Given the description of an element on the screen output the (x, y) to click on. 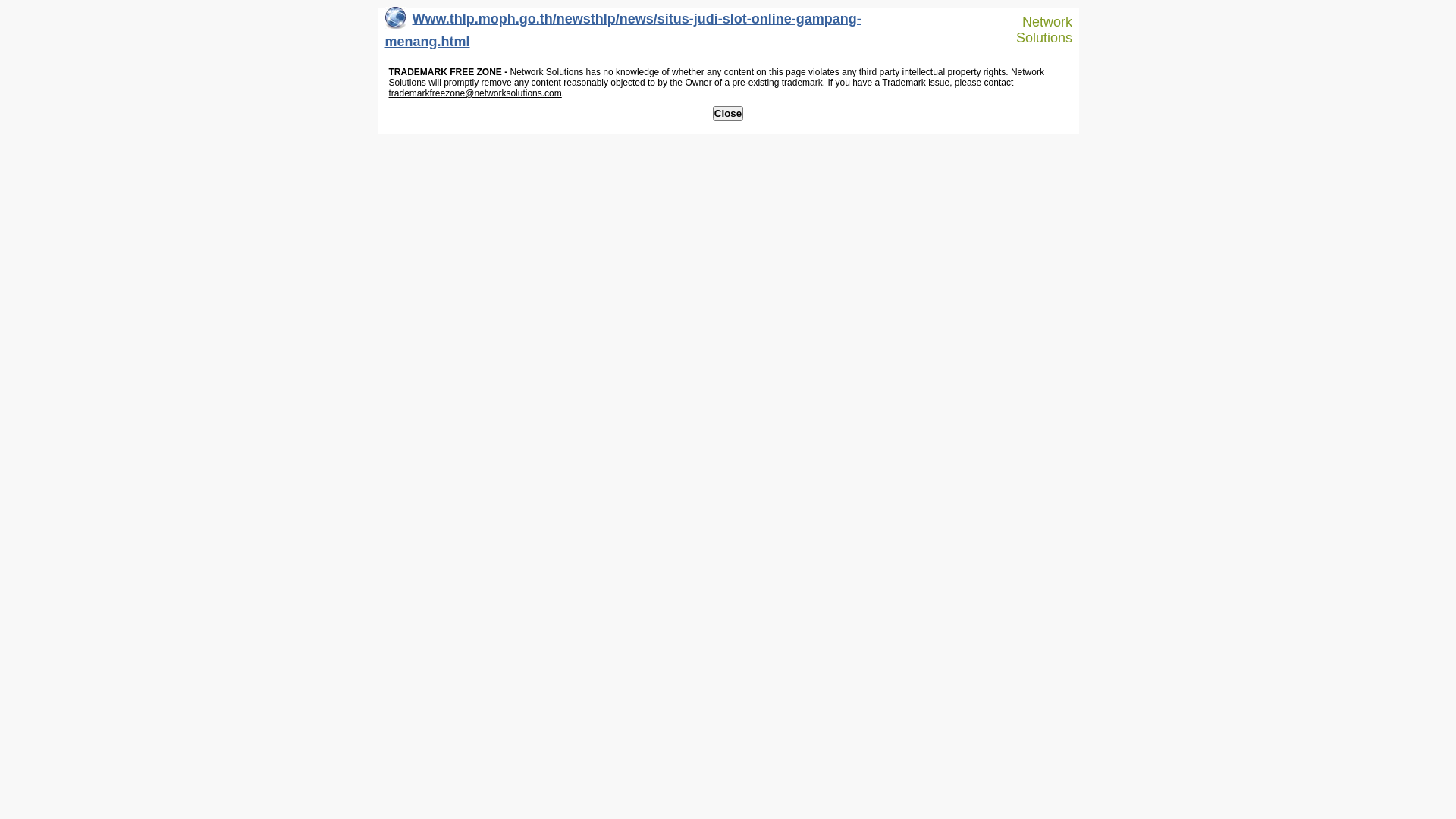
Network Solutions Element type: text (1037, 29)
Close Element type: text (727, 113)
trademarkfreezone@networksolutions.com Element type: text (474, 92)
